Given the description of an element on the screen output the (x, y) to click on. 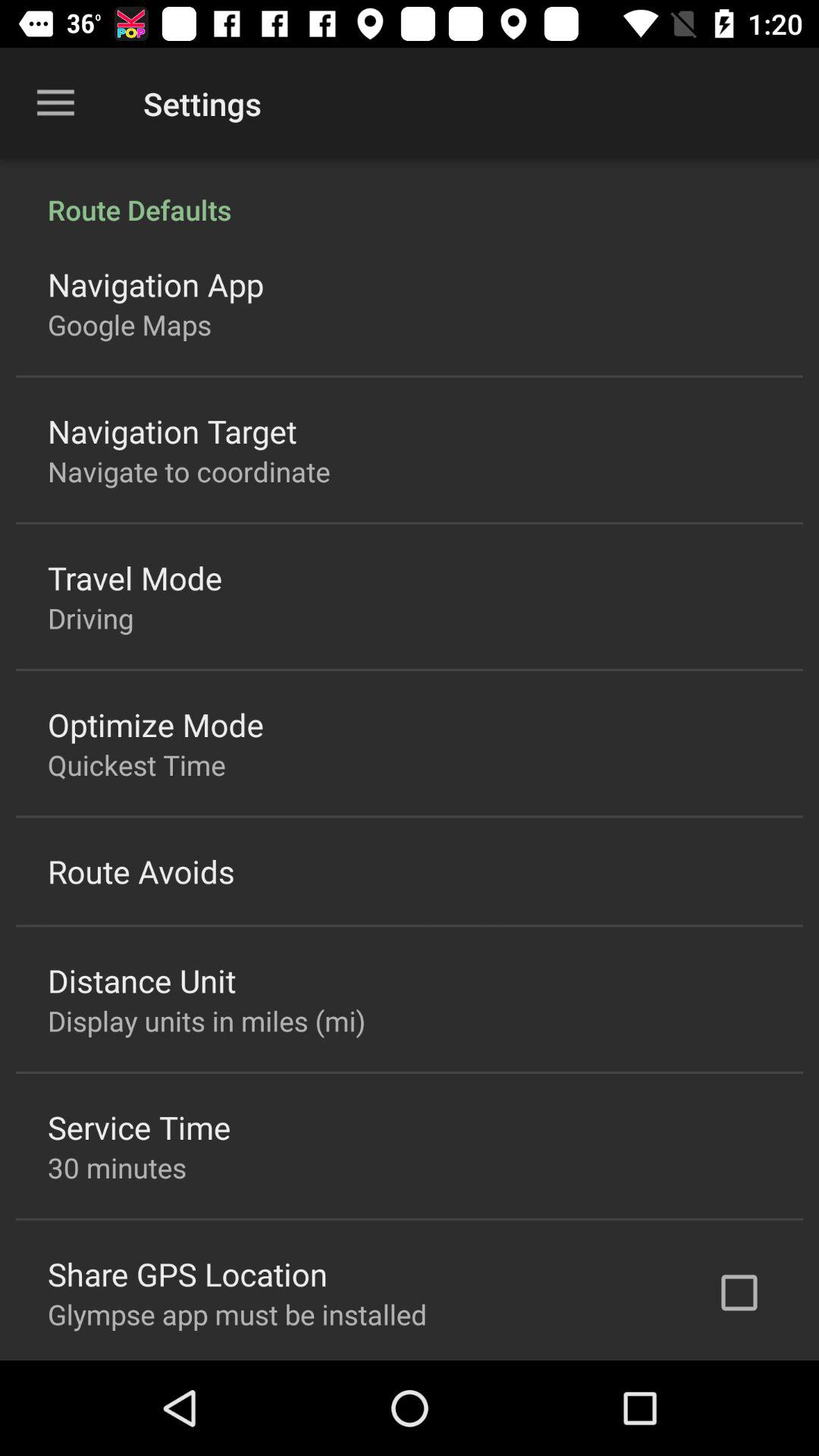
turn off the icon next to the settings item (55, 103)
